Given the description of an element on the screen output the (x, y) to click on. 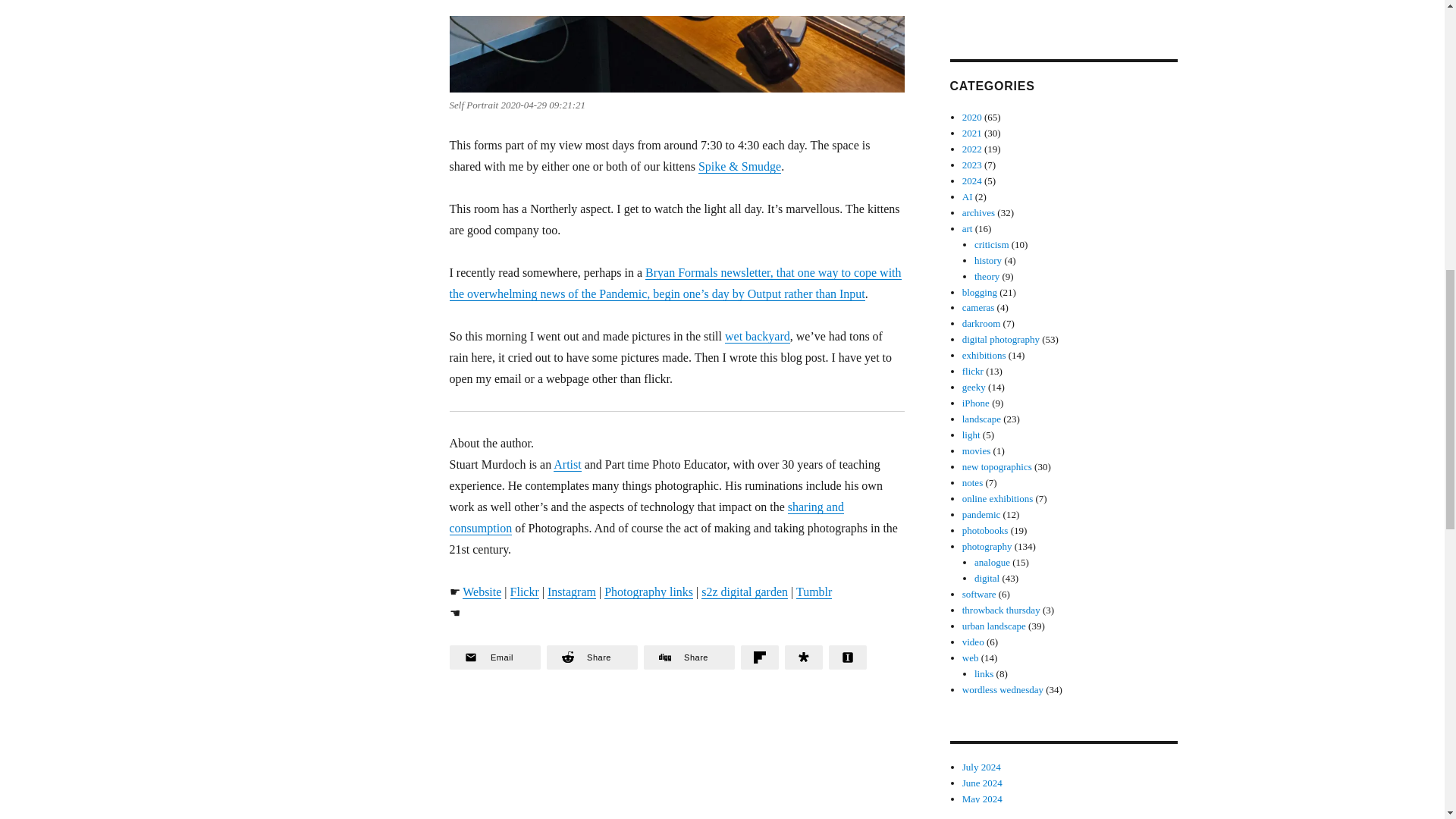
wet backyard (757, 336)
Tumblr (813, 591)
sharing and consumption (645, 517)
s2z digital garden (744, 591)
Flickr (524, 591)
Artist (566, 463)
Instagram (571, 591)
Website (481, 591)
Photography links (648, 591)
